Given the description of an element on the screen output the (x, y) to click on. 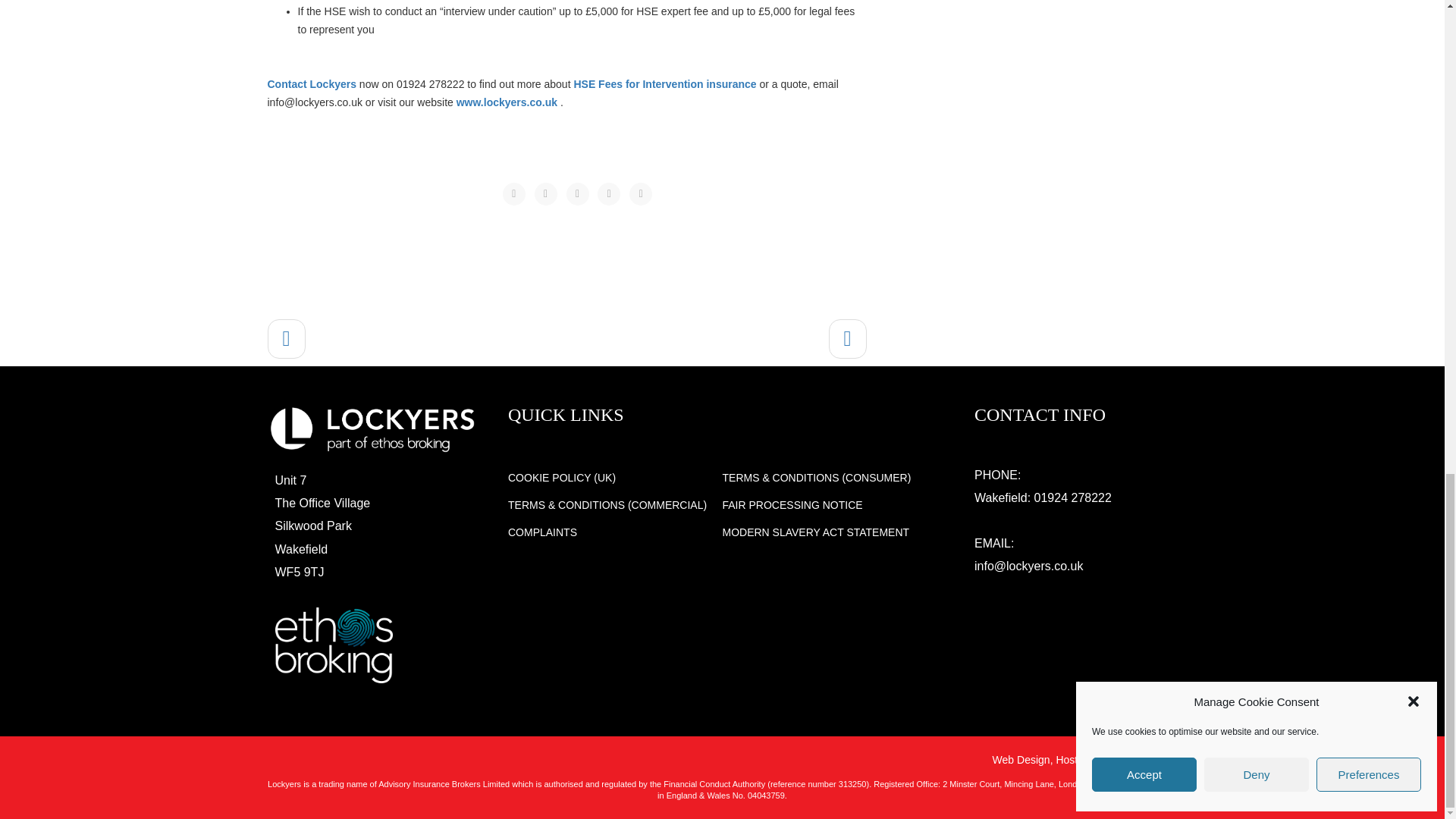
Seo (1115, 759)
Hosting (1072, 759)
HOW TO MAKE YOUR SMALL BUSINESS SEEM BIGGER (285, 338)
Buffalo (1160, 759)
Web Design (1020, 759)
